Given the description of an element on the screen output the (x, y) to click on. 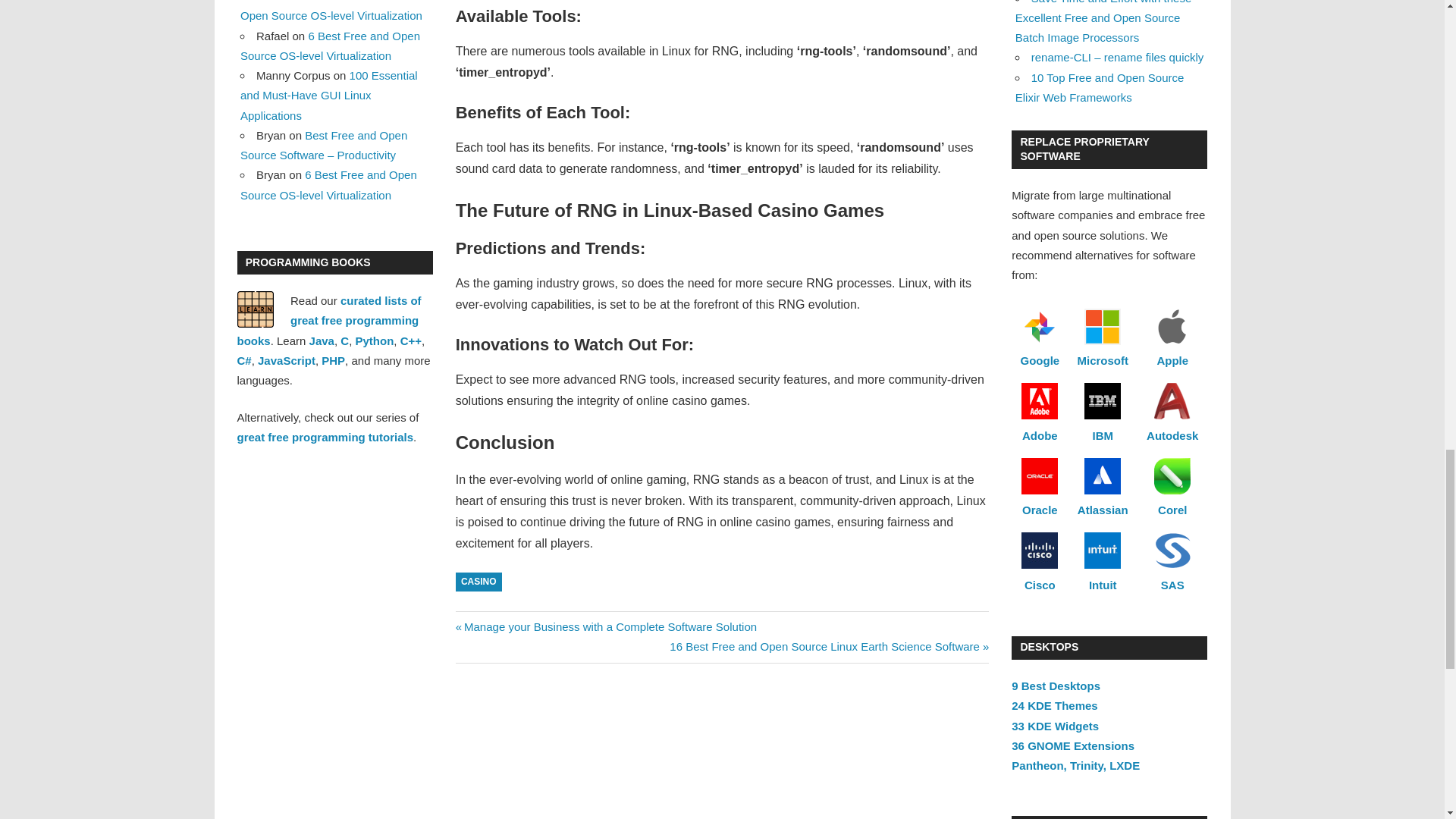
CASINO (478, 581)
